Given the description of an element on the screen output the (x, y) to click on. 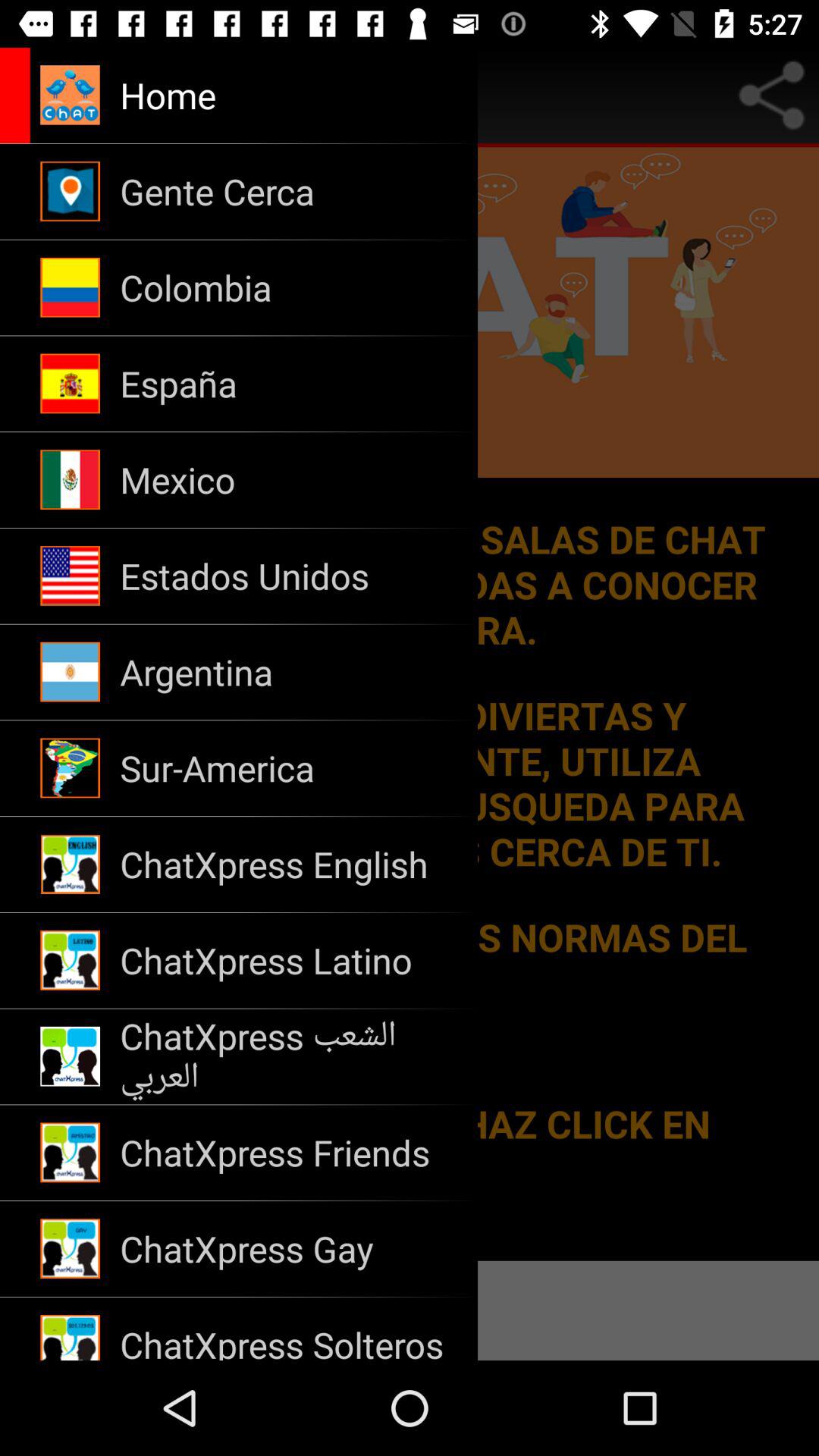
select the chatxpress friends icon (288, 1152)
